Given the description of an element on the screen output the (x, y) to click on. 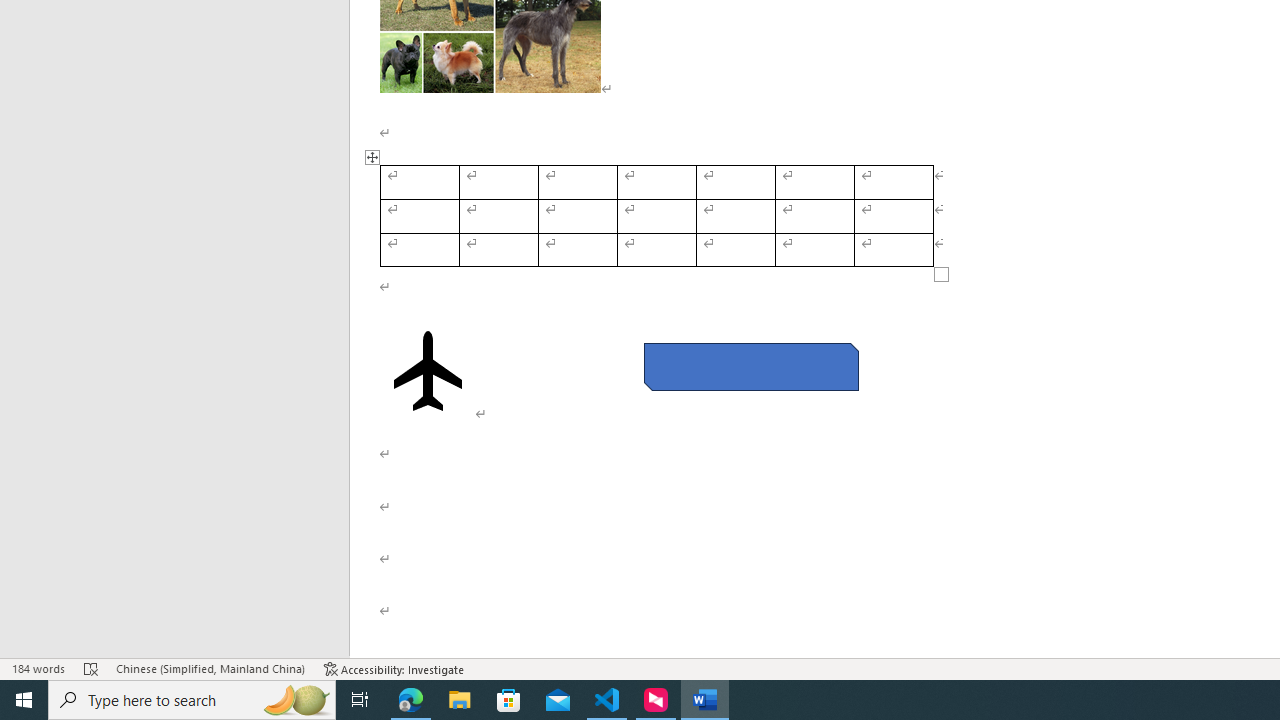
Spelling and Grammar Check Errors (91, 668)
Rectangle: Diagonal Corners Snipped 2 (750, 366)
Start (24, 699)
Search highlights icon opens search home window (295, 699)
Language Chinese (Simplified, Mainland China) (210, 668)
Microsoft Edge - 1 running window (411, 699)
File Explorer (460, 699)
Task View (359, 699)
Visual Studio Code - 1 running window (607, 699)
Type here to search (191, 699)
Word Count 184 words (37, 668)
Accessibility Checker Accessibility: Investigate (394, 668)
